Given the description of an element on the screen output the (x, y) to click on. 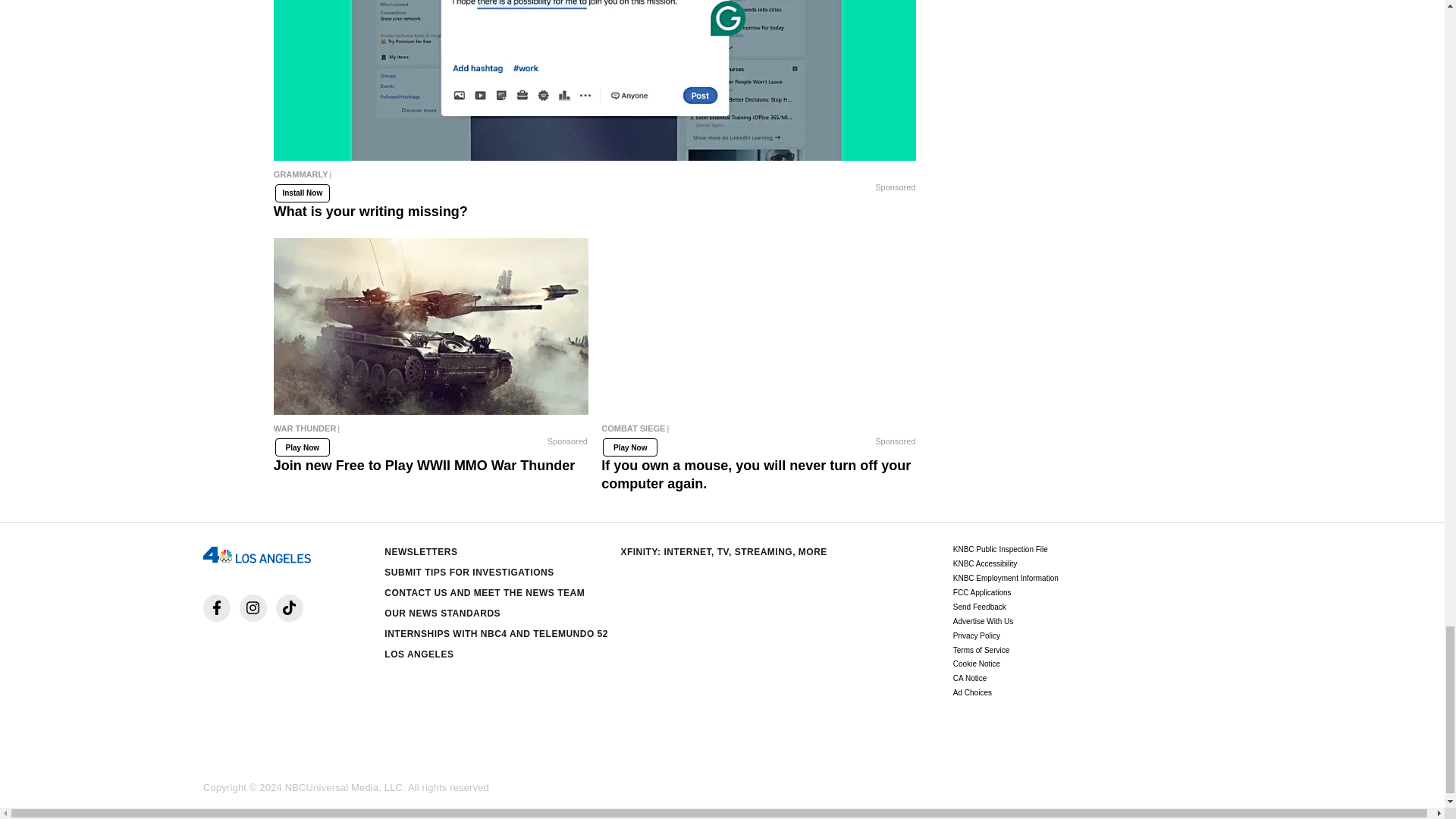
Join new Free to Play WWII MMO War Thunder (430, 326)
What is your writing missing? (595, 177)
Join new Free to Play WWII MMO War Thunder (430, 431)
What is your writing missing? (595, 80)
